Given the description of an element on the screen output the (x, y) to click on. 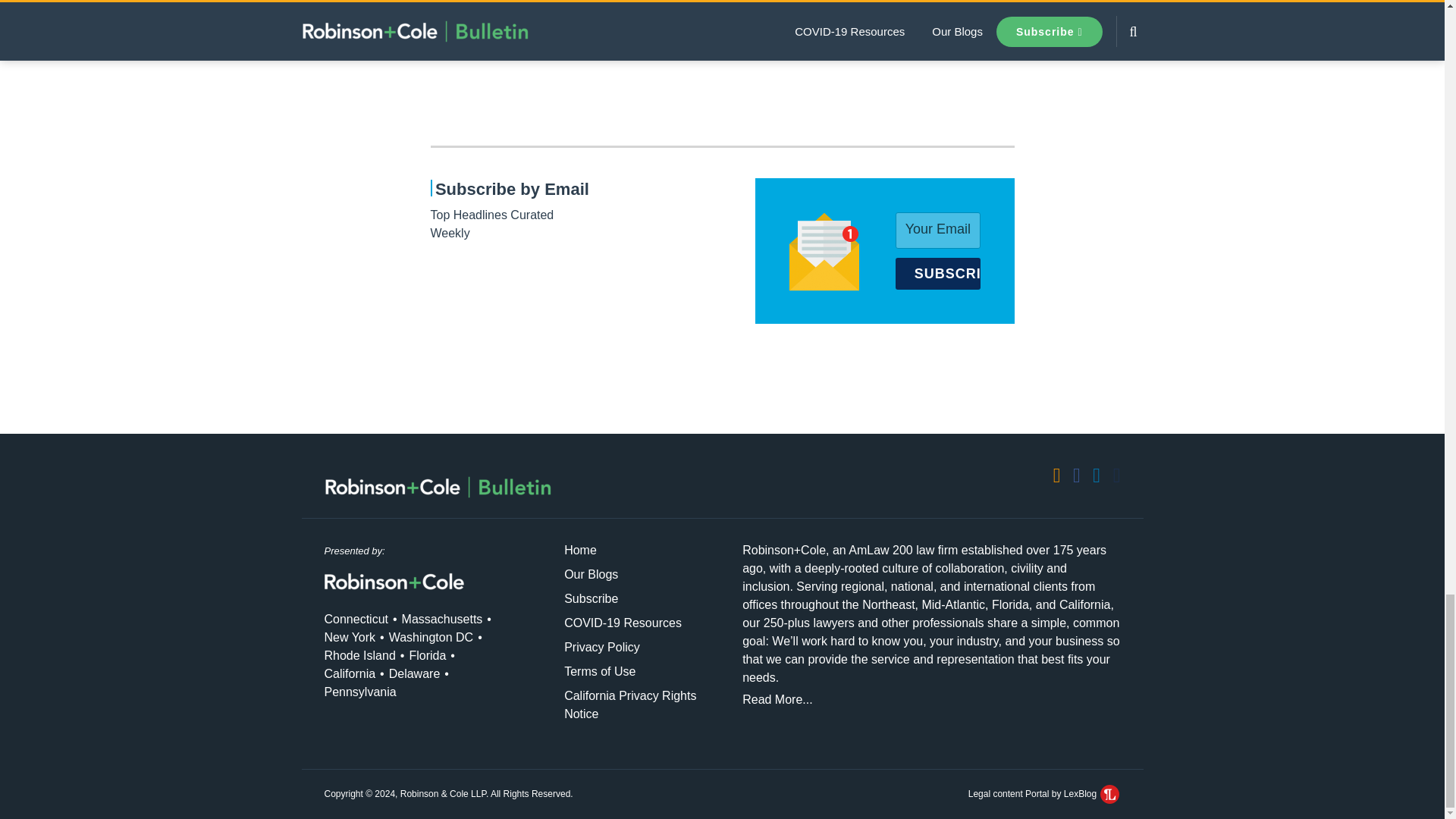
Florida (427, 655)
Home (580, 549)
SUBSCRIBE (937, 273)
New York (349, 636)
Massachusetts (442, 618)
Delaware (414, 673)
Pennsylvania (360, 691)
COVID-19 Resources (622, 622)
SUBSCRIBE (937, 273)
Subscribe (590, 598)
California (349, 673)
View Original Source (537, 40)
LexBlog Logo (1109, 793)
Construction Law Zone (531, 5)
Our Blogs (590, 574)
